Given the description of an element on the screen output the (x, y) to click on. 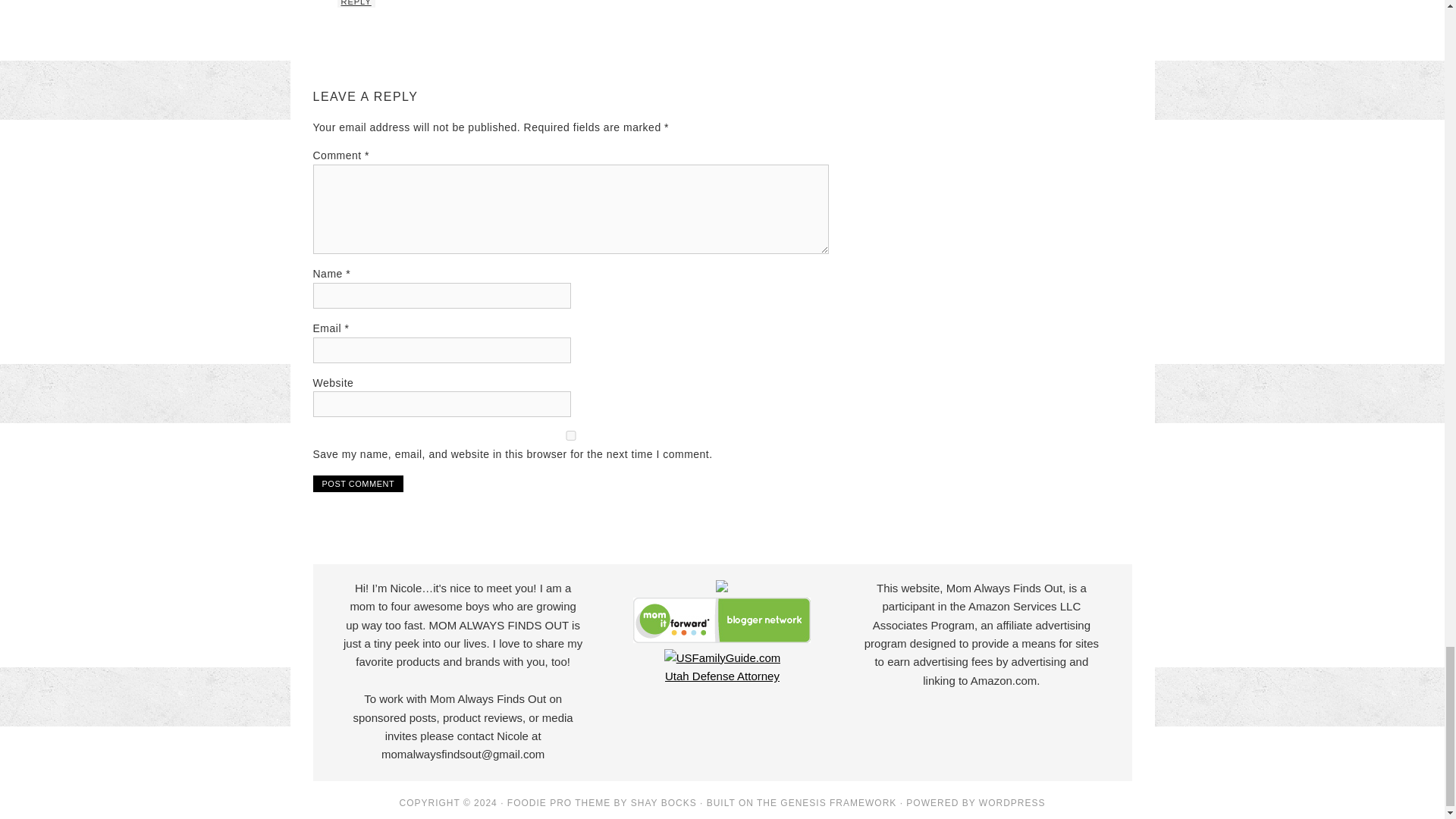
Post Comment (358, 483)
yes (570, 435)
